Given the description of an element on the screen output the (x, y) to click on. 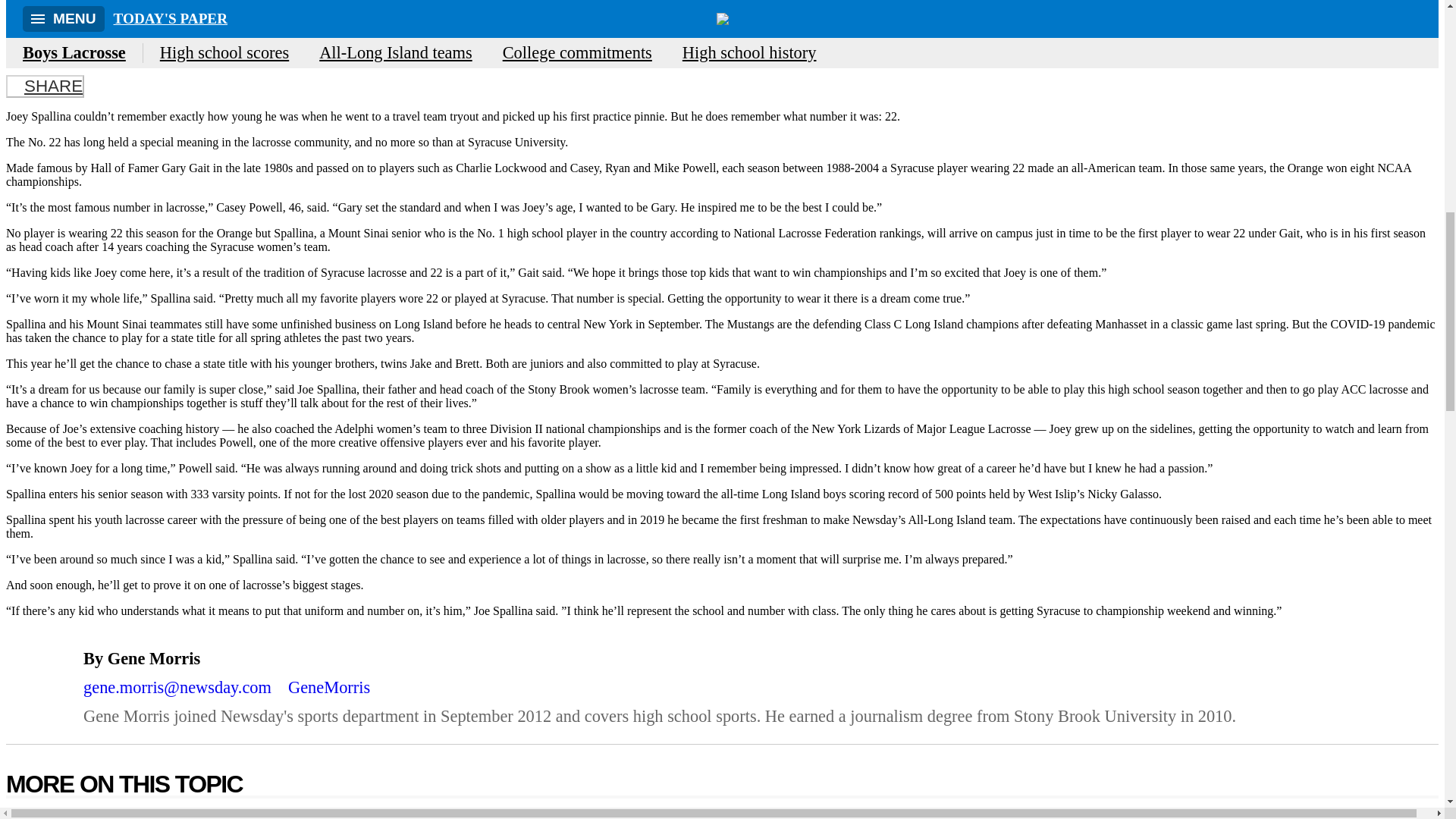
GeneMorris (322, 687)
SHARE (44, 86)
GeneMorris (245, 49)
Read in the app (274, 692)
